Given the description of an element on the screen output the (x, y) to click on. 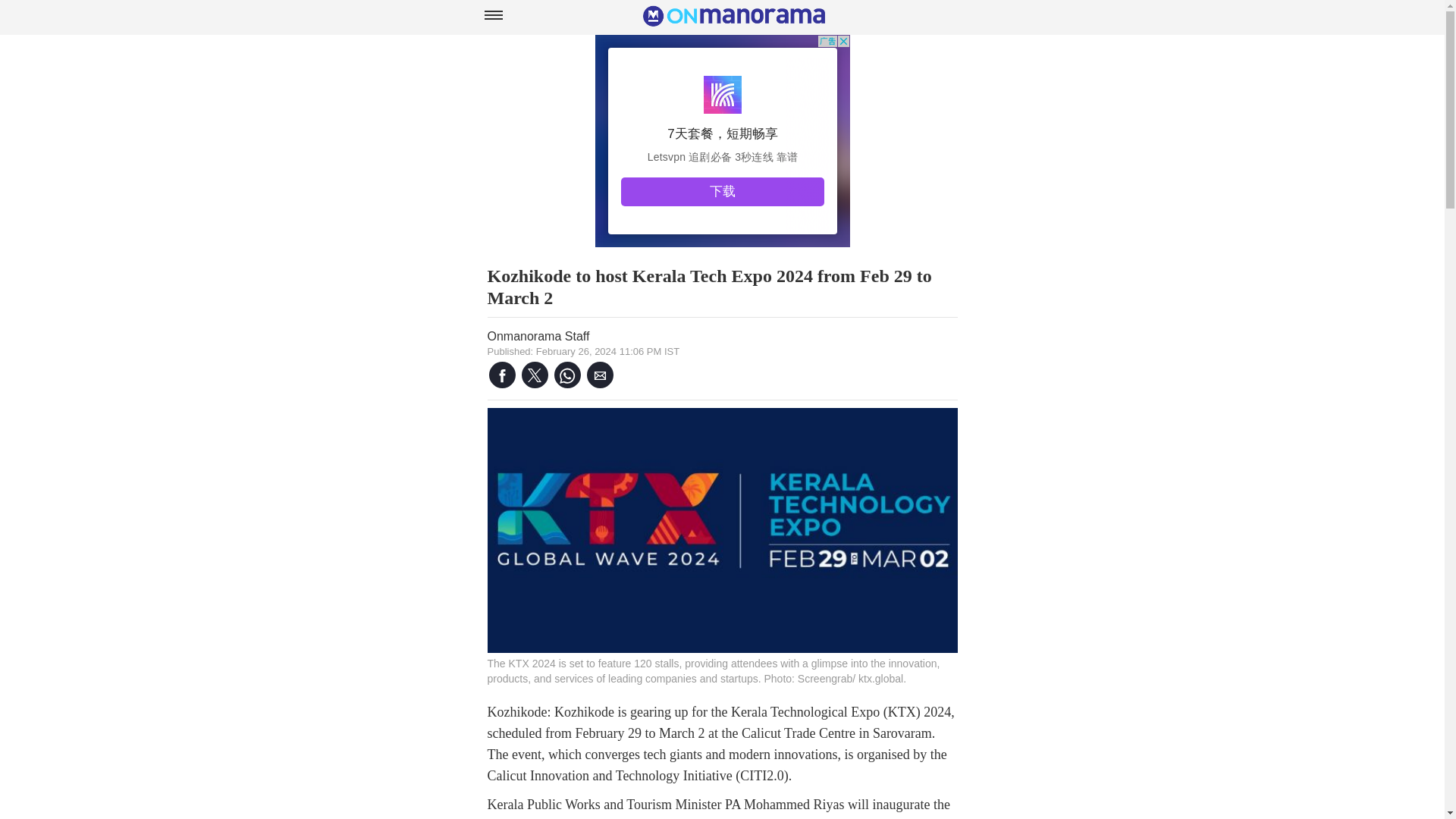
Advertisement (721, 141)
Onmanorama (734, 23)
